Given the description of an element on the screen output the (x, y) to click on. 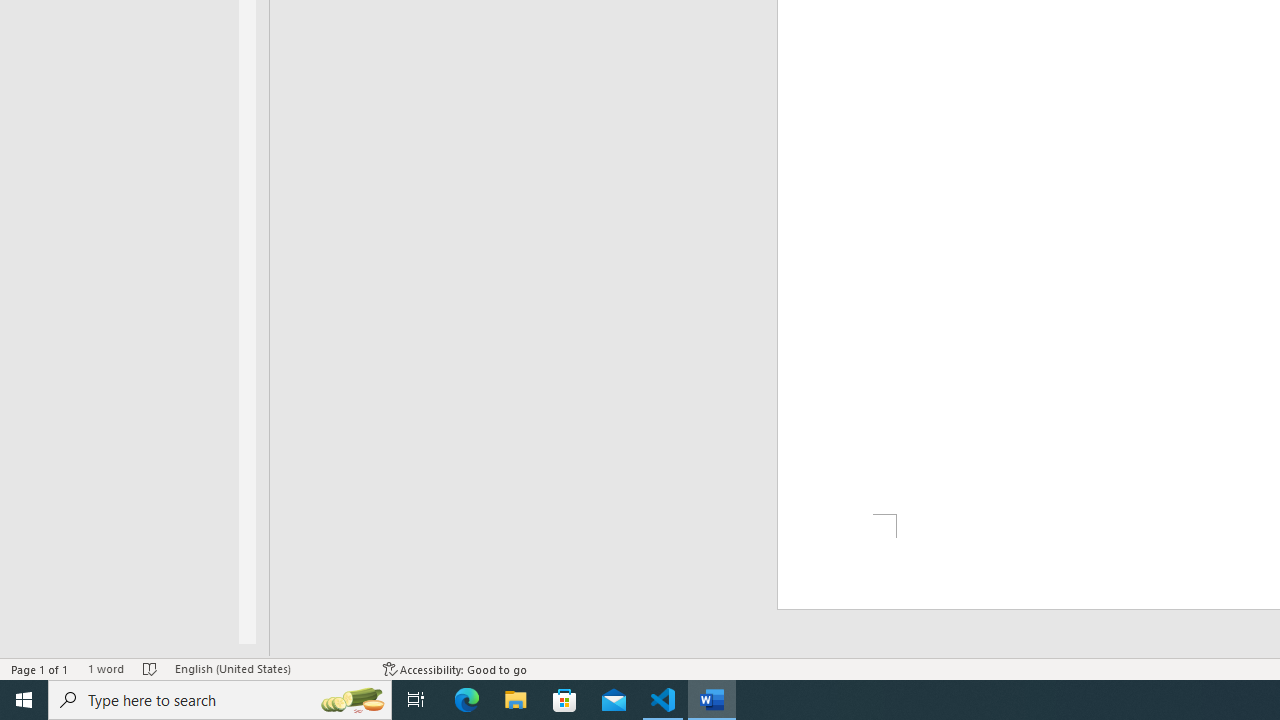
Page Number Page 1 of 1 (39, 668)
Spelling and Grammar Check No Errors (150, 668)
Language English (United States) (269, 668)
Accessibility Checker Accessibility: Good to go (455, 668)
